Given the description of an element on the screen output the (x, y) to click on. 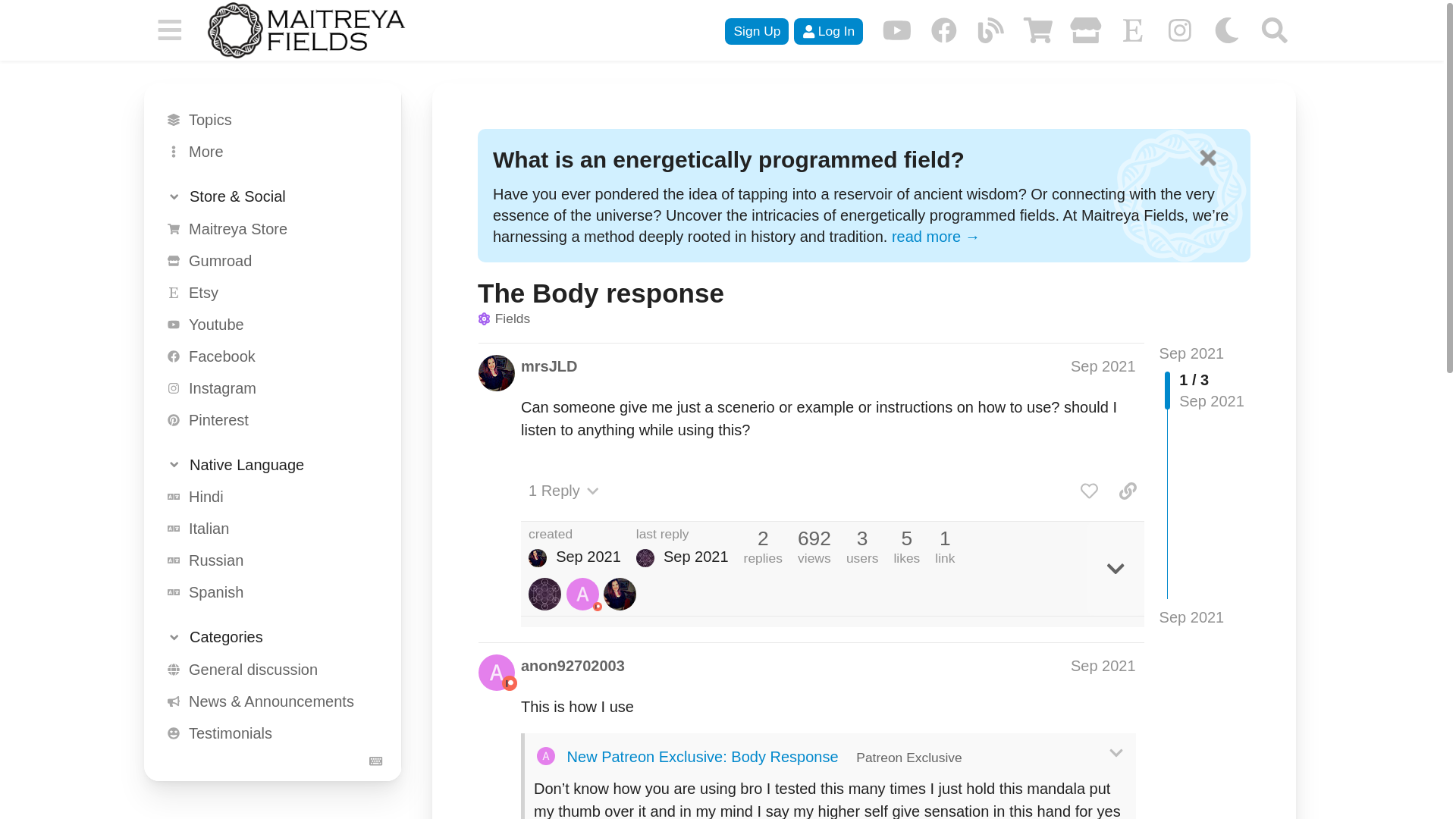
Instagram (267, 387)
All topics (267, 119)
Etsy (267, 291)
Maitreya Fields Blog (990, 30)
Toggle section (267, 464)
Maitreya Fields on Instagram (1179, 30)
Maitreya Fields on Facebook (942, 30)
Spanish (267, 592)
General discussion (267, 669)
Sidebar (169, 30)
In this category we will discuss fields effects and results. (267, 765)
Testimonials (267, 733)
Items Fields (267, 816)
Pinterest (267, 418)
Toggle section (267, 196)
